Given the description of an element on the screen output the (x, y) to click on. 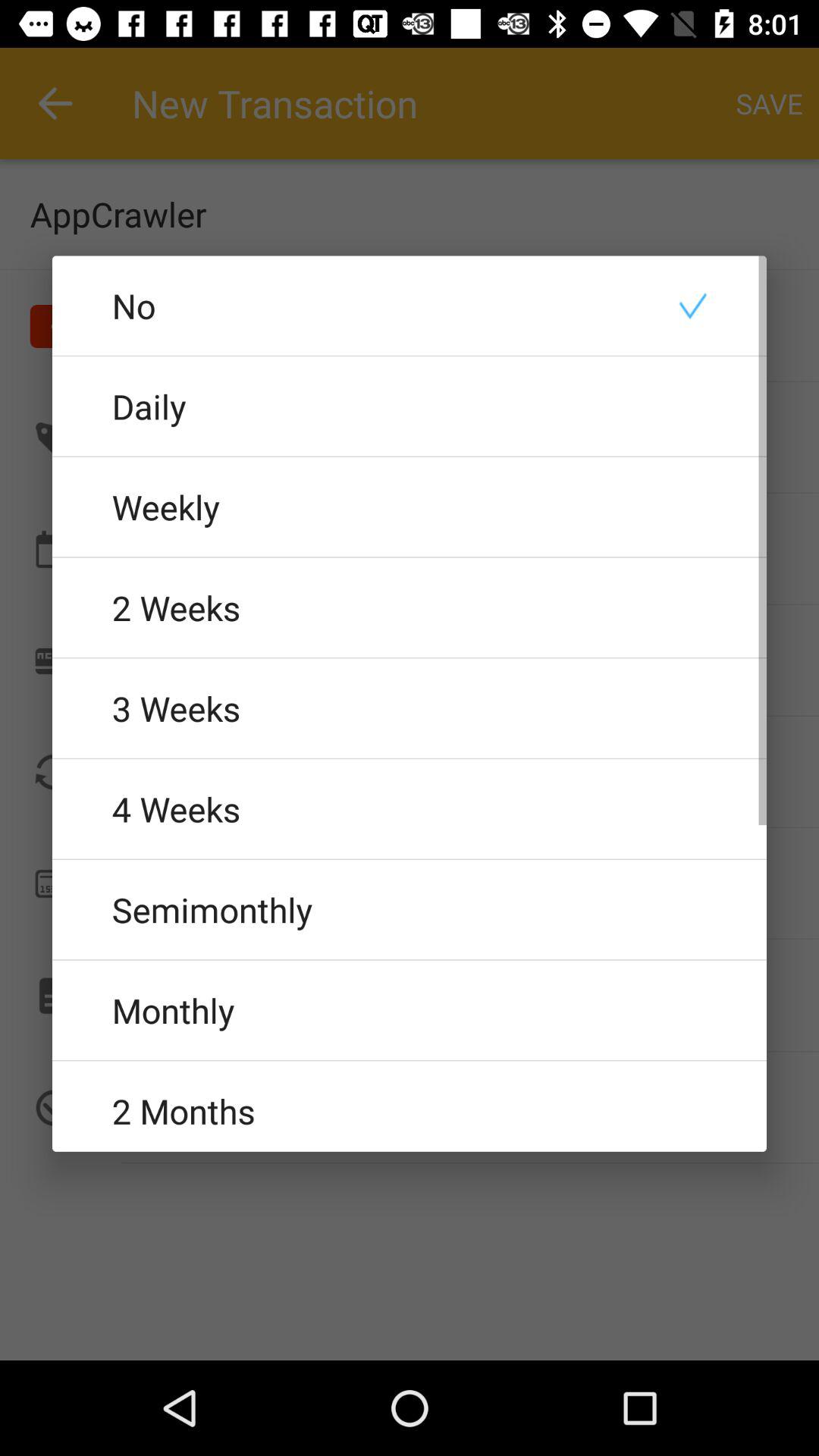
scroll until the semimonthly (409, 909)
